Given the description of an element on the screen output the (x, y) to click on. 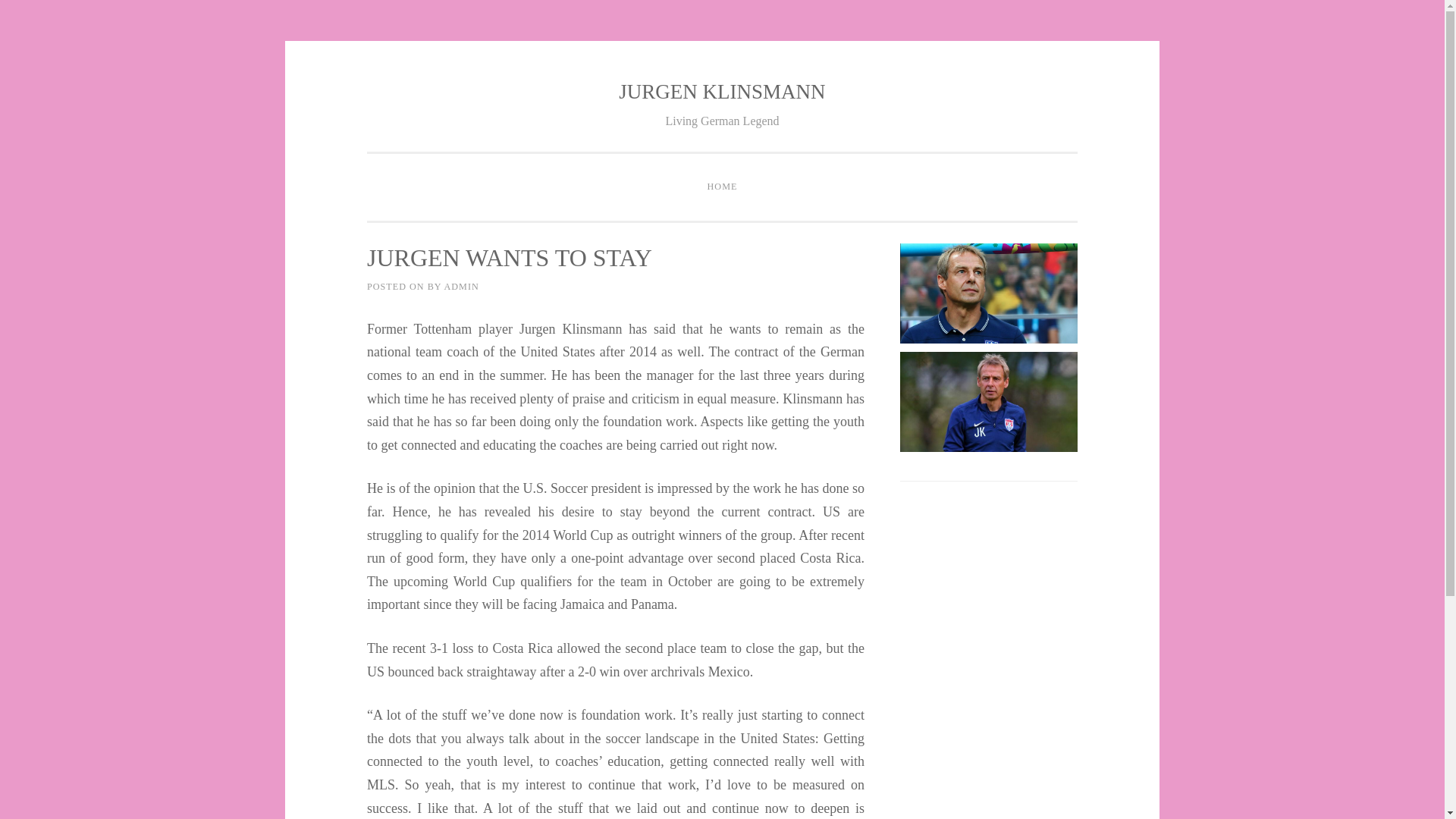
JURGEN KLINSMANN (721, 91)
ADMIN (461, 286)
HOME (722, 186)
JURGEN KLINSMANN (721, 91)
